Given the description of an element on the screen output the (x, y) to click on. 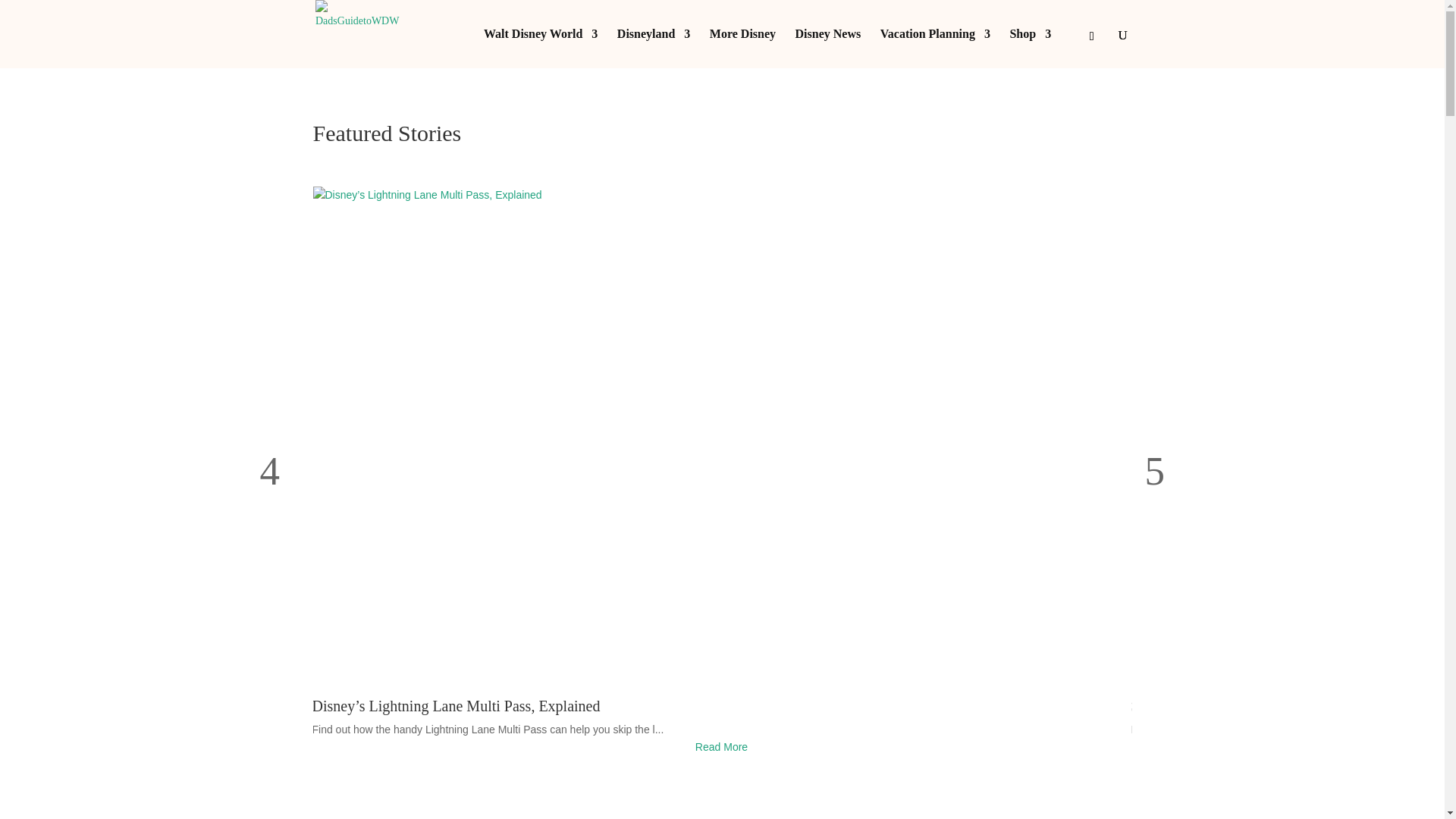
Shop (1030, 47)
Walt Disney World (539, 47)
Vacation Planning (935, 47)
Disneyland (653, 47)
More Disney (743, 47)
Read More (723, 747)
Disney News (827, 47)
